Given the description of an element on the screen output the (x, y) to click on. 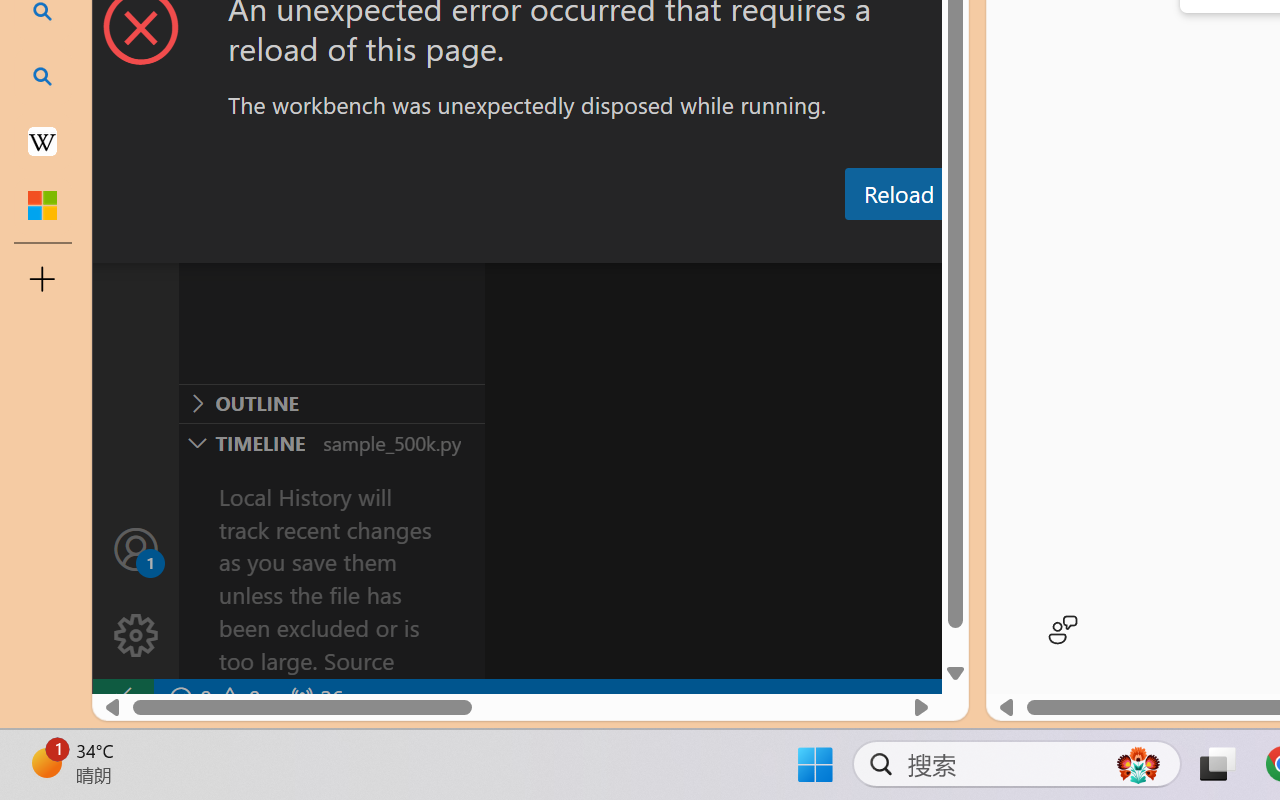
Accounts - Sign in requested (135, 548)
Terminal (Ctrl+`) (1021, 243)
remote (122, 698)
Timeline Section (331, 442)
Debug Console (Ctrl+Shift+Y) (854, 243)
No Problems (212, 698)
Problems (Ctrl+Shift+M) (567, 243)
Output (Ctrl+Shift+U) (696, 243)
Reload (898, 193)
